Given the description of an element on the screen output the (x, y) to click on. 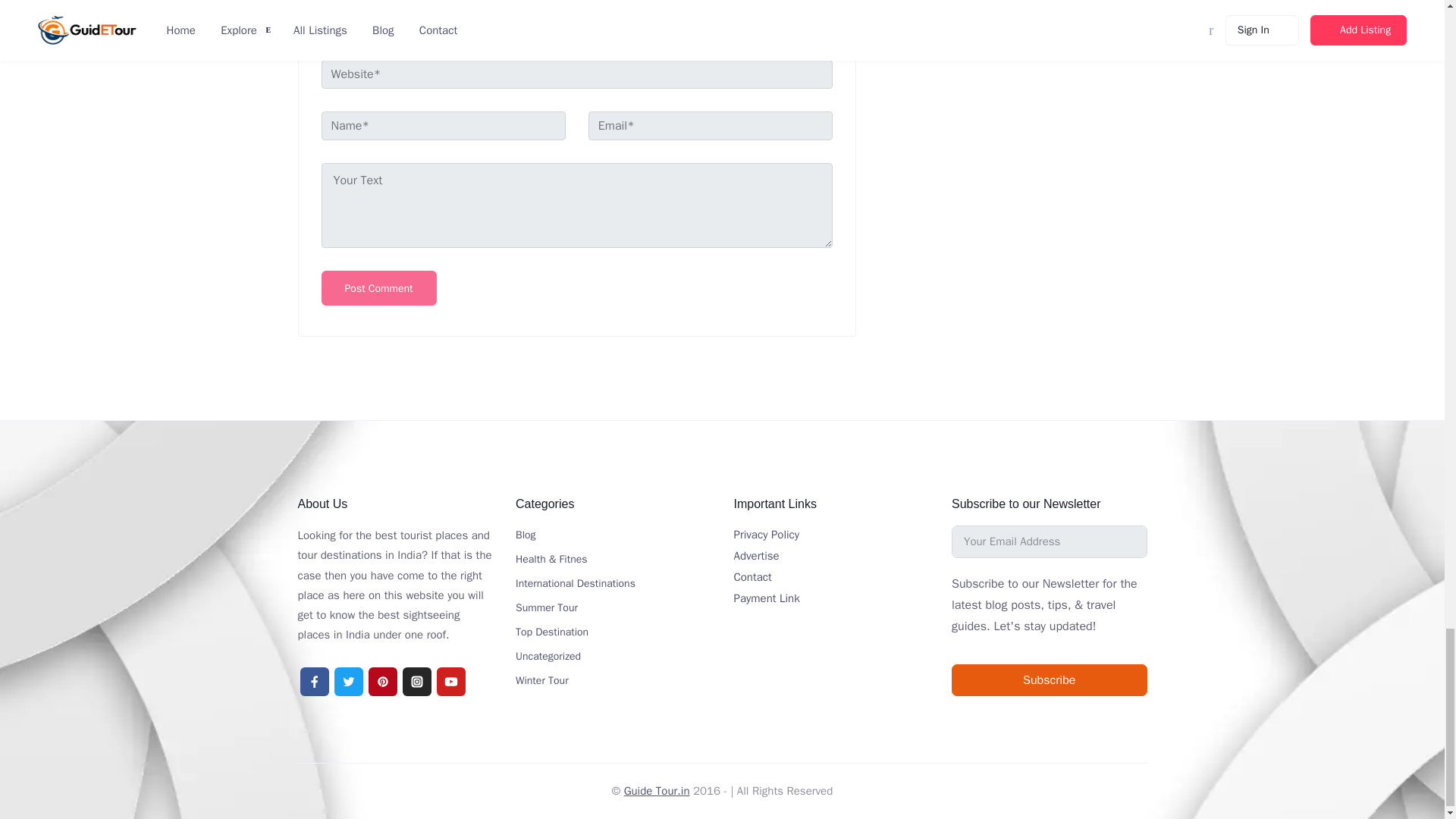
Post Comment (378, 288)
